Given the description of an element on the screen output the (x, y) to click on. 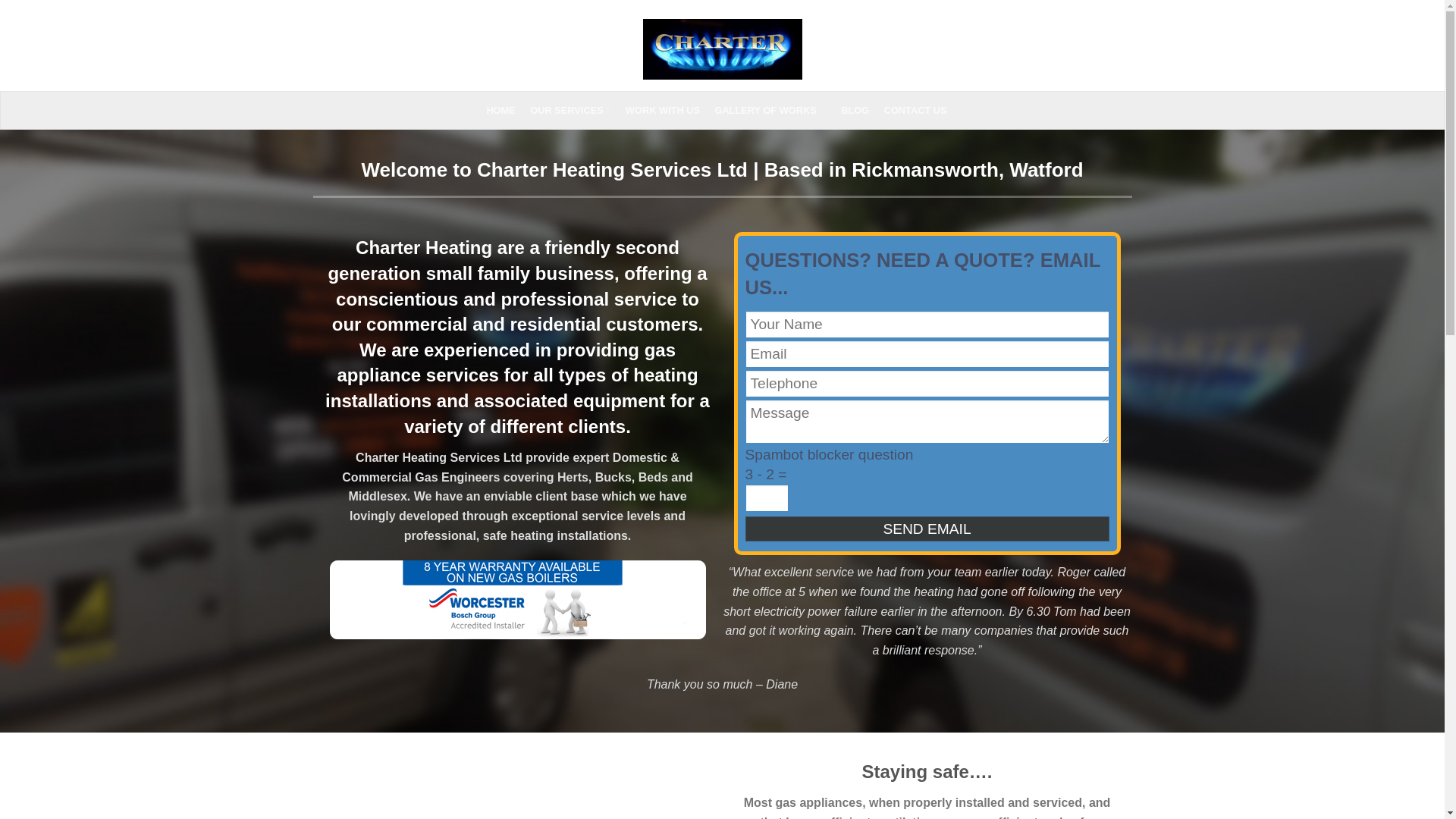
WORK WITH US (668, 110)
HOME (505, 110)
BLOG (860, 110)
Send Email (926, 528)
01923 778 493 (1067, 51)
Send Email (926, 528)
GALLERY OF WORKS (775, 110)
OUR SERVICES (575, 110)
CONTACT US (920, 110)
